Given the description of an element on the screen output the (x, y) to click on. 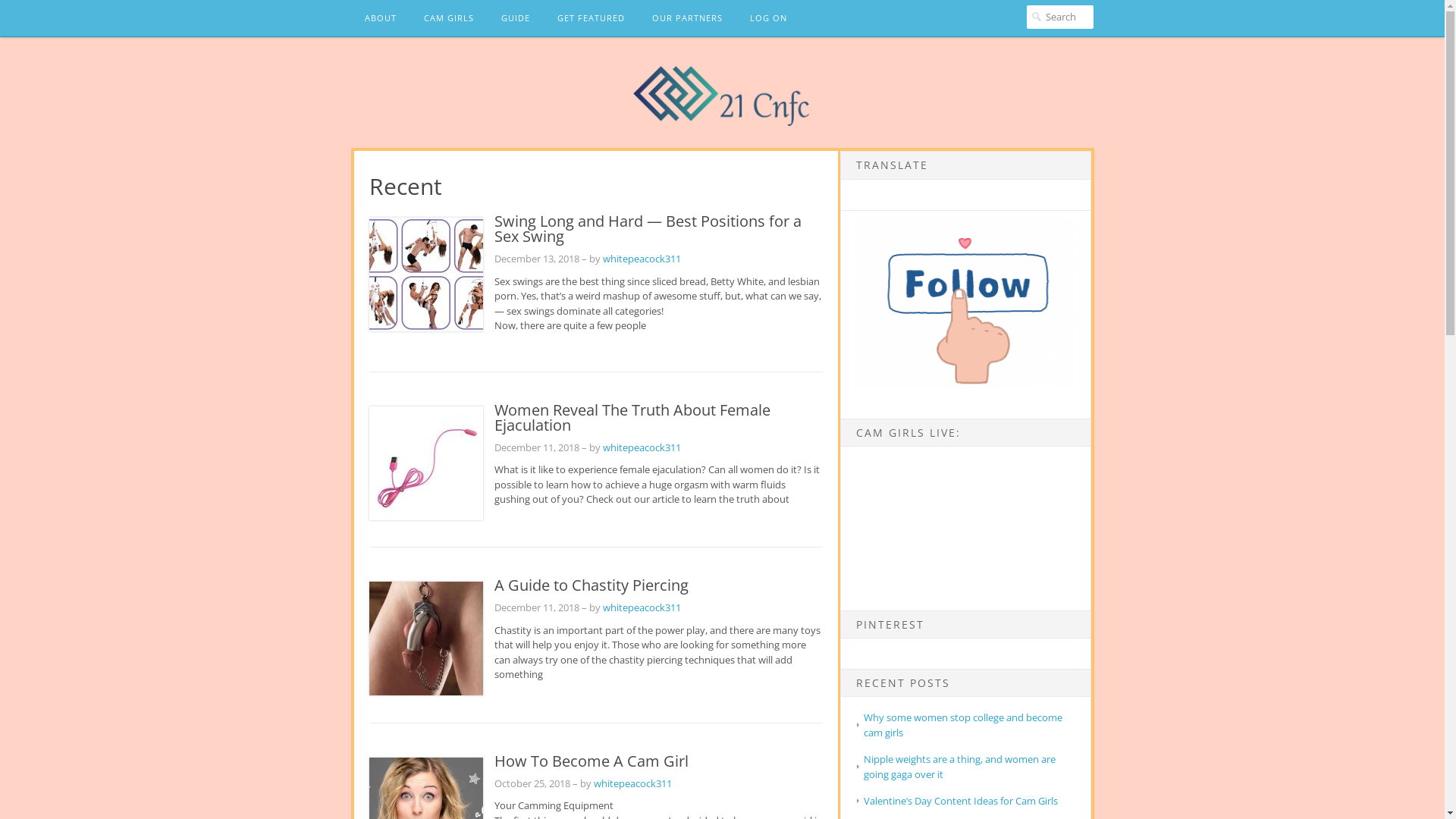
ABOUT Element type: text (379, 18)
CAM GIRLS Element type: text (447, 18)
December 11, 2018 Element type: text (536, 447)
December 13, 2018 Element type: text (536, 258)
Why some women stop college and become cam girls Element type: text (962, 724)
whitepeacock311 Element type: text (632, 783)
whitepeacock311 Element type: text (641, 258)
A Guide to Chastity Piercing Element type: text (591, 584)
whitepeacock311 Element type: text (641, 447)
October 25, 2018 Element type: text (532, 783)
Women Reveal The Truth About Female Ejaculation Element type: text (632, 417)
GET FEATURED Element type: text (589, 18)
December 11, 2018 Element type: text (536, 607)
Nipple weights are a thing, and women are going gaga over it Element type: text (959, 766)
GUIDE Element type: text (514, 18)
How To Become A Cam Girl Element type: text (591, 760)
whitepeacock311 Element type: text (641, 607)
LOG ON Element type: text (767, 18)
OUR PARTNERS Element type: text (687, 18)
